Given the description of an element on the screen output the (x, y) to click on. 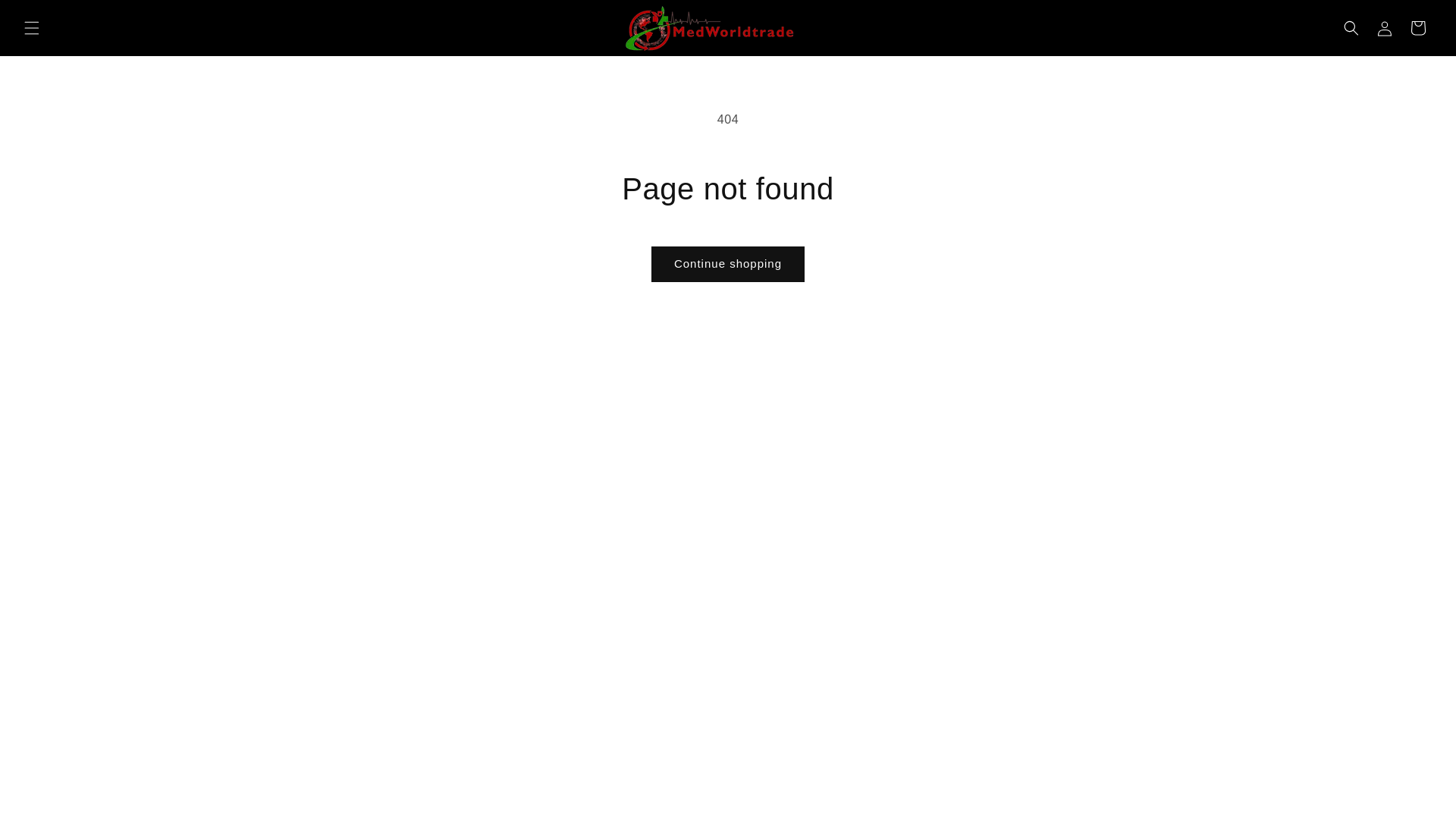
Skip to content (45, 17)
